Given the description of an element on the screen output the (x, y) to click on. 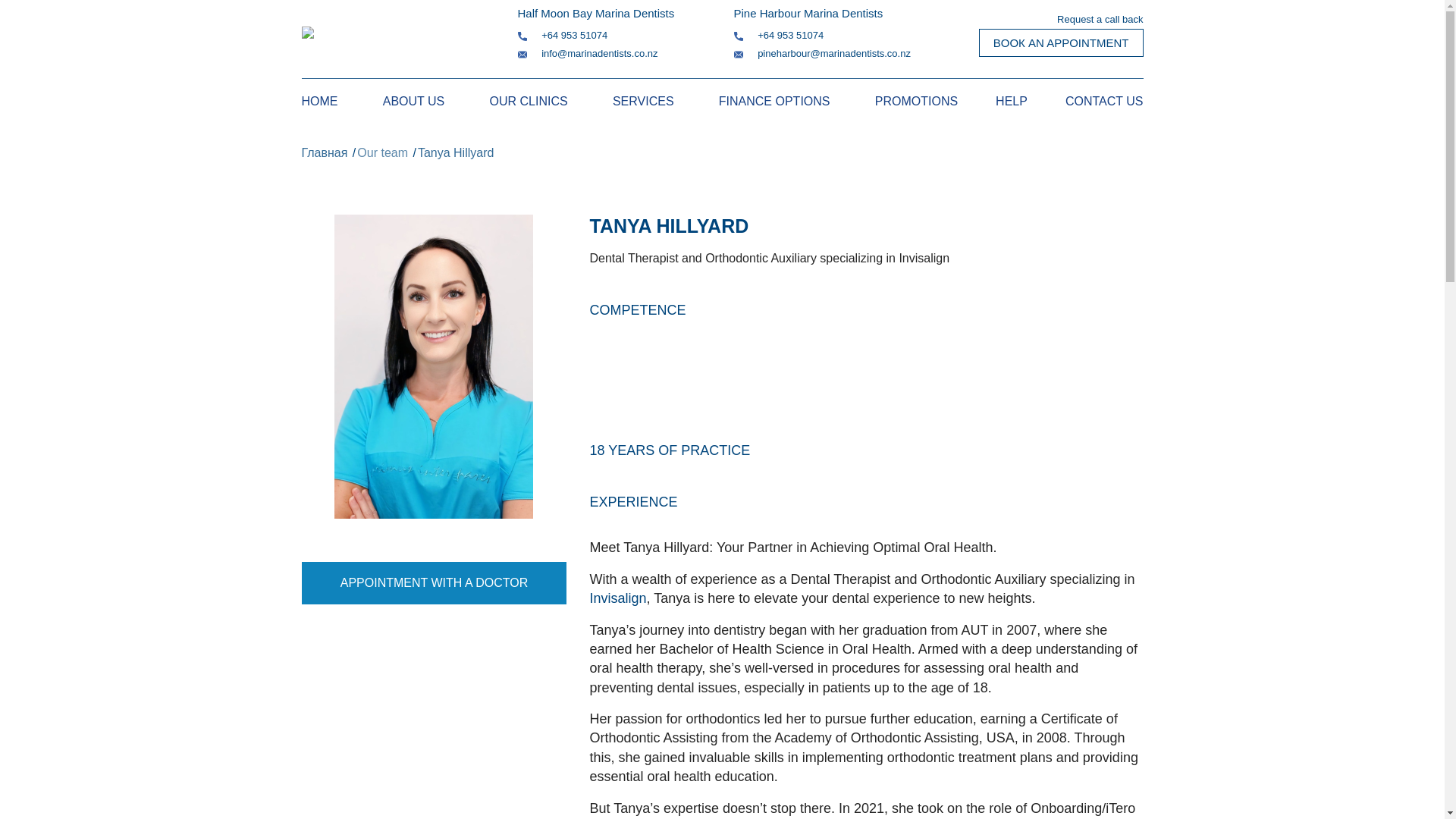
PROMOTIONS (916, 100)
CONTACT US (1084, 100)
HOME (319, 100)
HELP (992, 100)
